Given the description of an element on the screen output the (x, y) to click on. 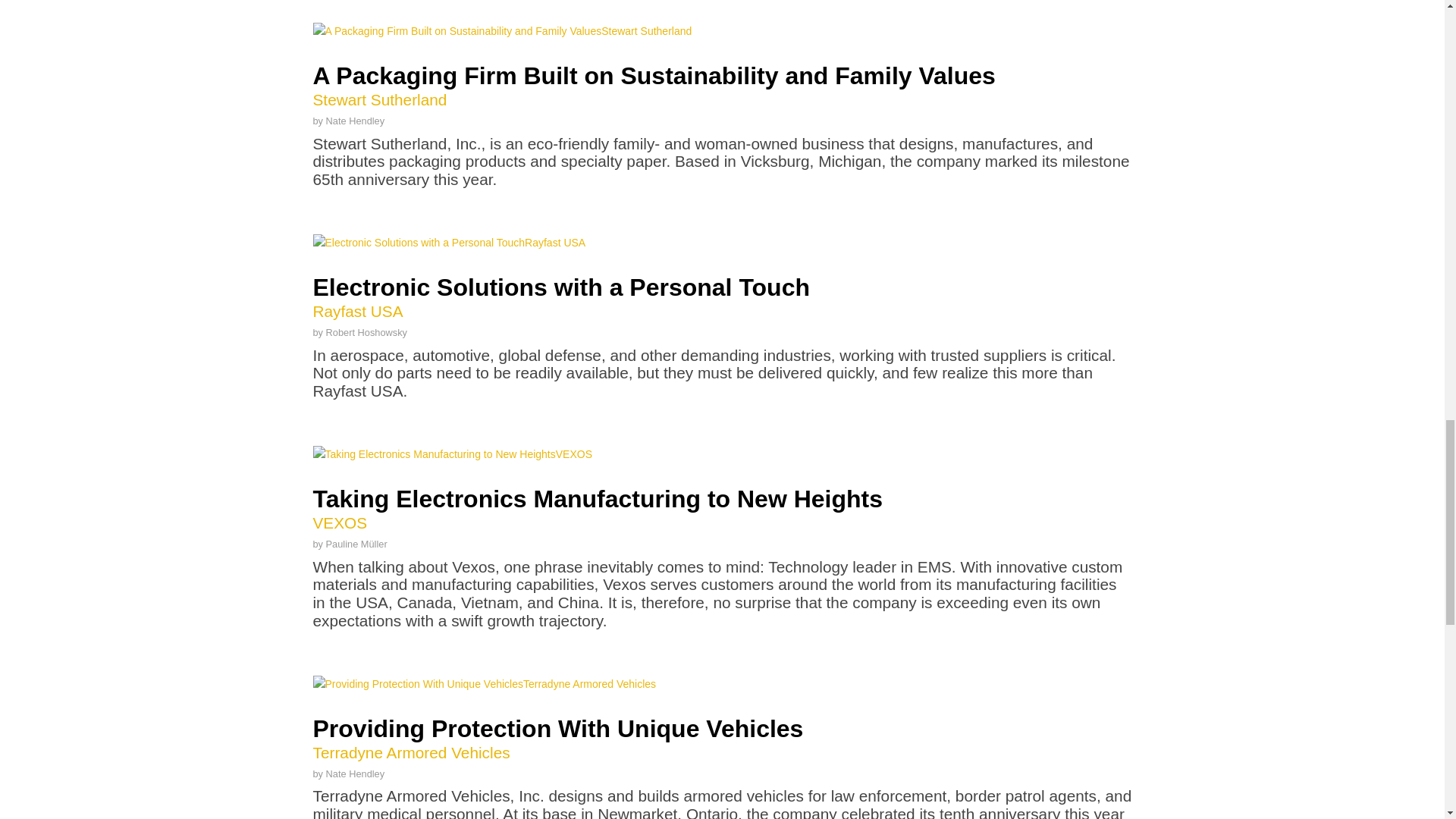
Robert Hoshowsky (366, 332)
Posts by Robert Hoshowsky (366, 332)
Posts by Nate Hendley (355, 772)
Nate Hendley (355, 772)
Posts by Nate Hendley (722, 510)
Nate Hendley (355, 120)
